Given the description of an element on the screen output the (x, y) to click on. 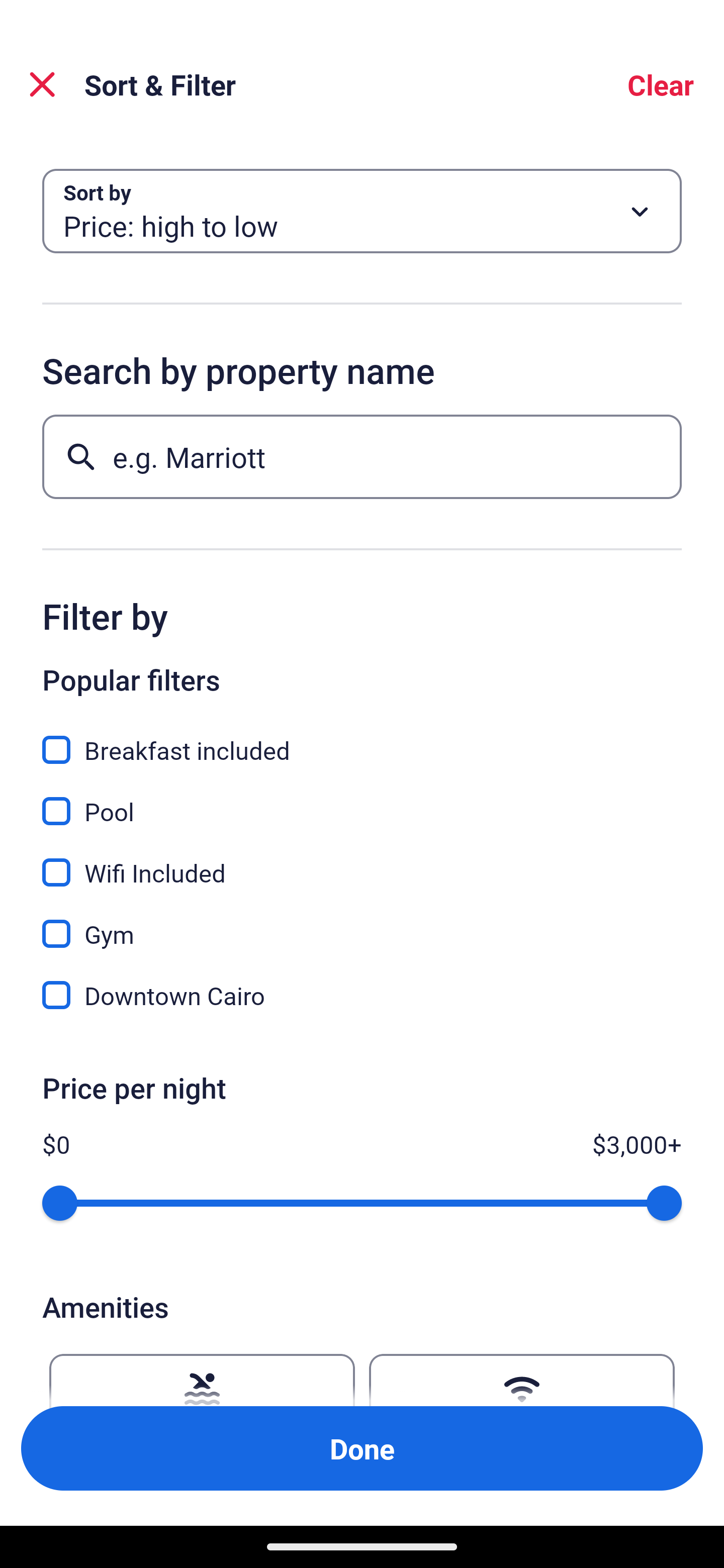
Close Sort and Filter (42, 84)
Clear (660, 84)
Sort by Button Price: high to low (361, 211)
e.g. Marriott Button (361, 455)
Breakfast included, Breakfast included (361, 738)
Pool, Pool (361, 800)
Wifi Included, Wifi Included (361, 861)
Gym, Gym (361, 922)
Downtown Cairo, Downtown Cairo (361, 995)
Apply and close Sort and Filter Done (361, 1448)
